Given the description of an element on the screen output the (x, y) to click on. 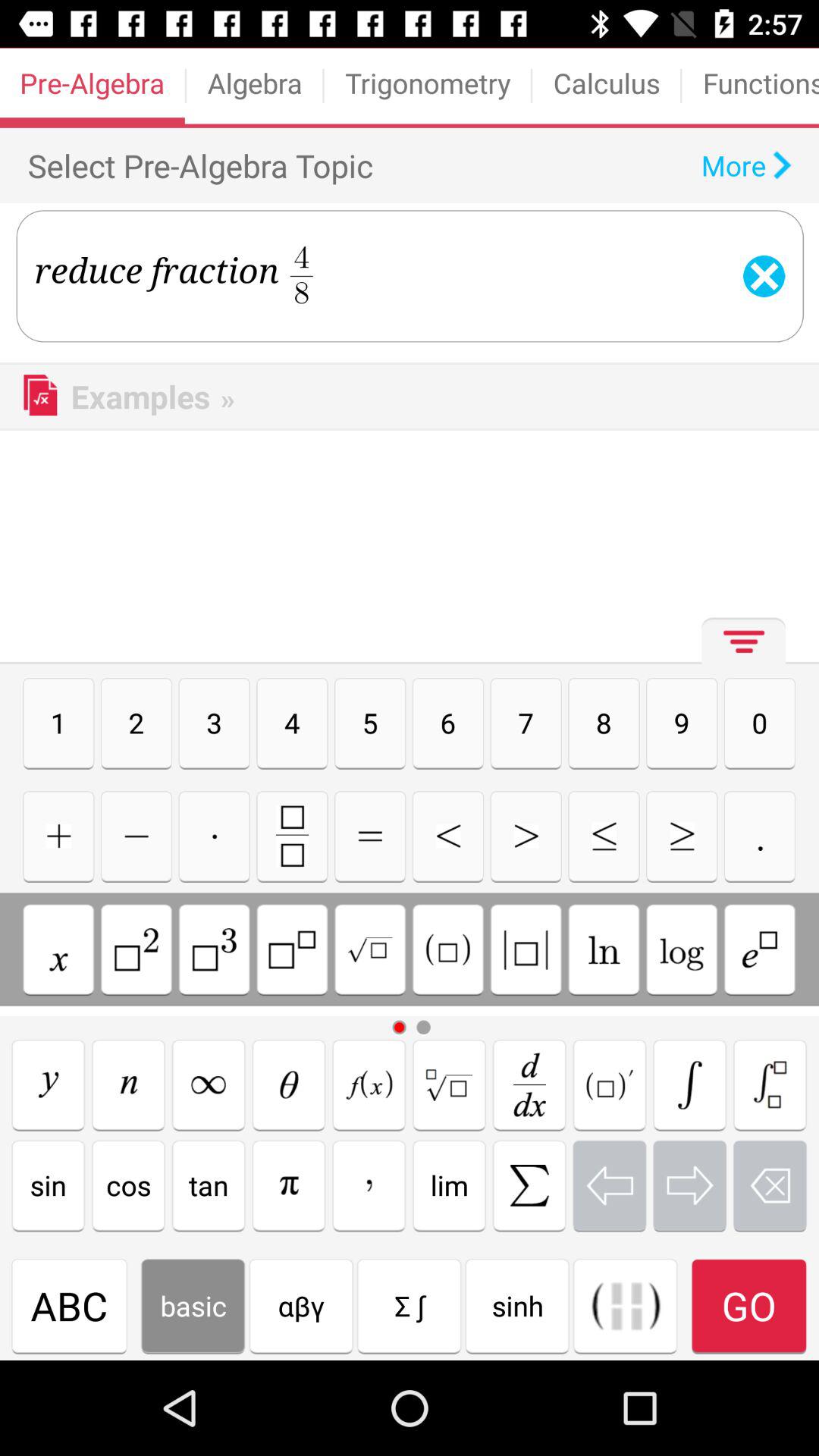
enter square root (370, 949)
